Given the description of an element on the screen output the (x, y) to click on. 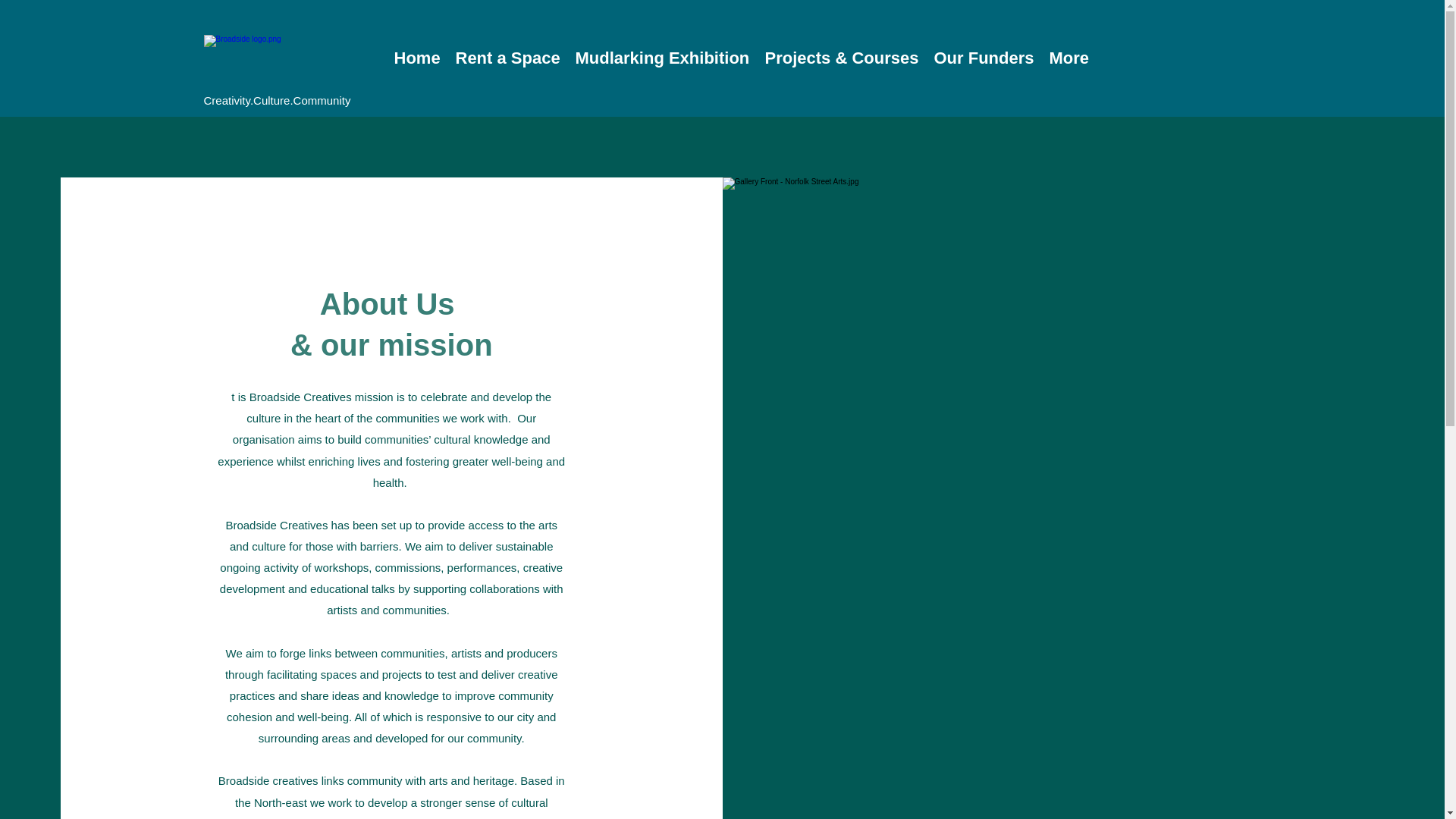
Rent a Space (506, 58)
Home (417, 58)
Mudlarking Exhibition (662, 58)
Our Funders (984, 58)
